Given the description of an element on the screen output the (x, y) to click on. 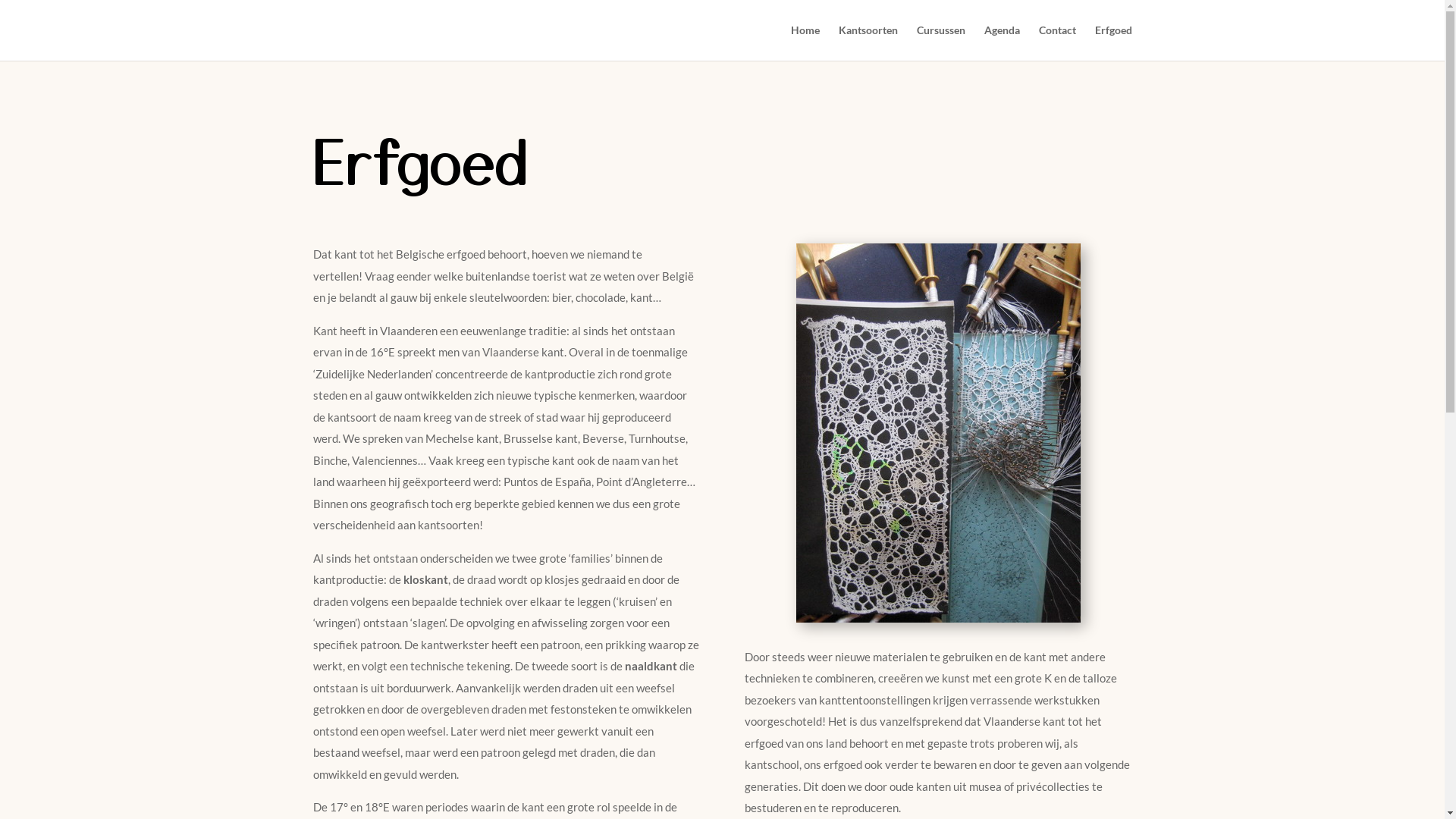
Home Element type: text (804, 42)
Kantsoorten Element type: text (867, 42)
erfgoed Element type: hover (938, 432)
Cursussen Element type: text (940, 42)
Contact Element type: text (1057, 42)
Agenda Element type: text (1001, 42)
Erfgoed Element type: text (1113, 42)
